Given the description of an element on the screen output the (x, y) to click on. 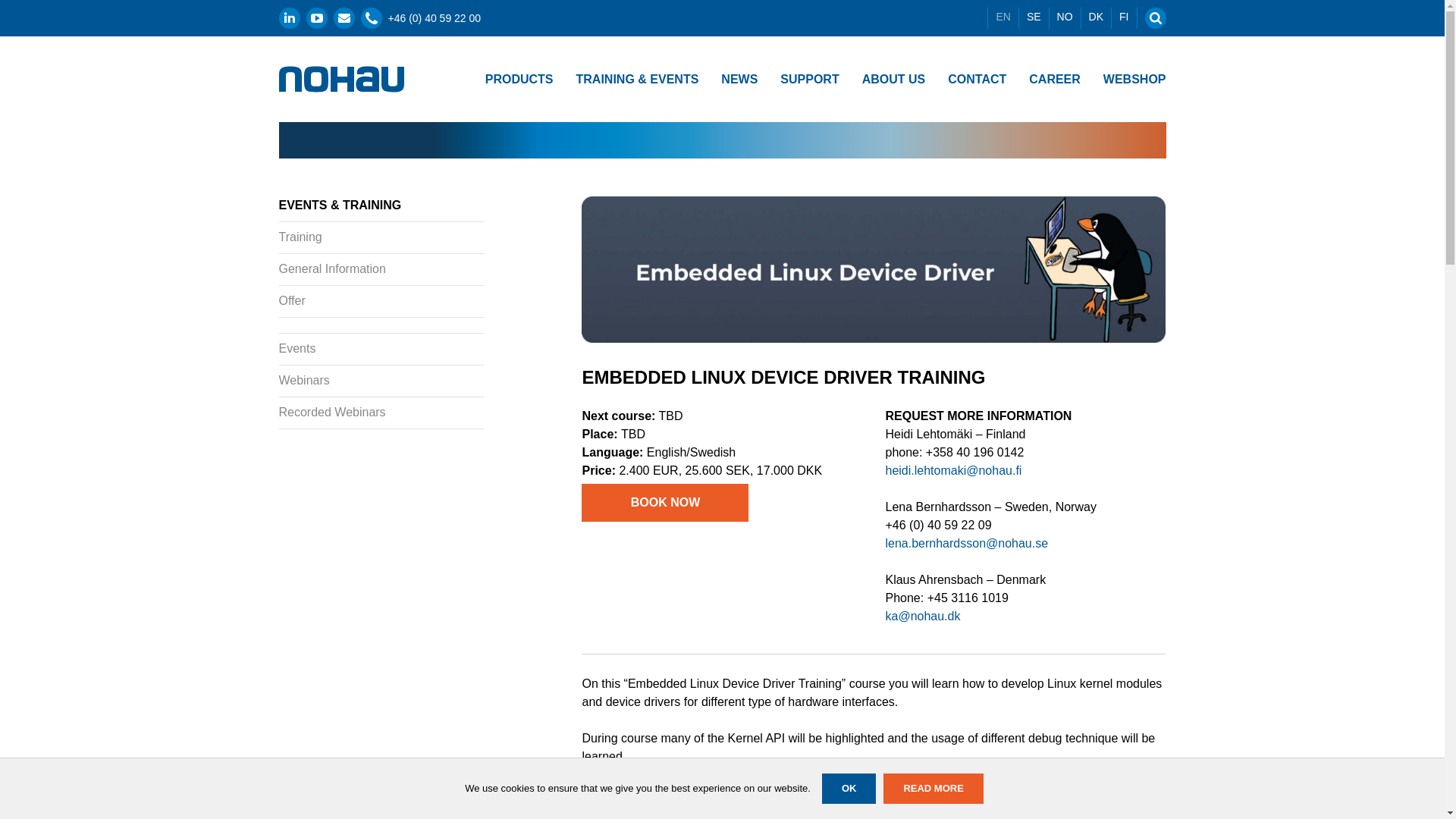
SE (1033, 16)
NO (1064, 16)
EN (1002, 16)
FI (1123, 16)
PRODUCTS (519, 79)
DK (1095, 16)
